Given the description of an element on the screen output the (x, y) to click on. 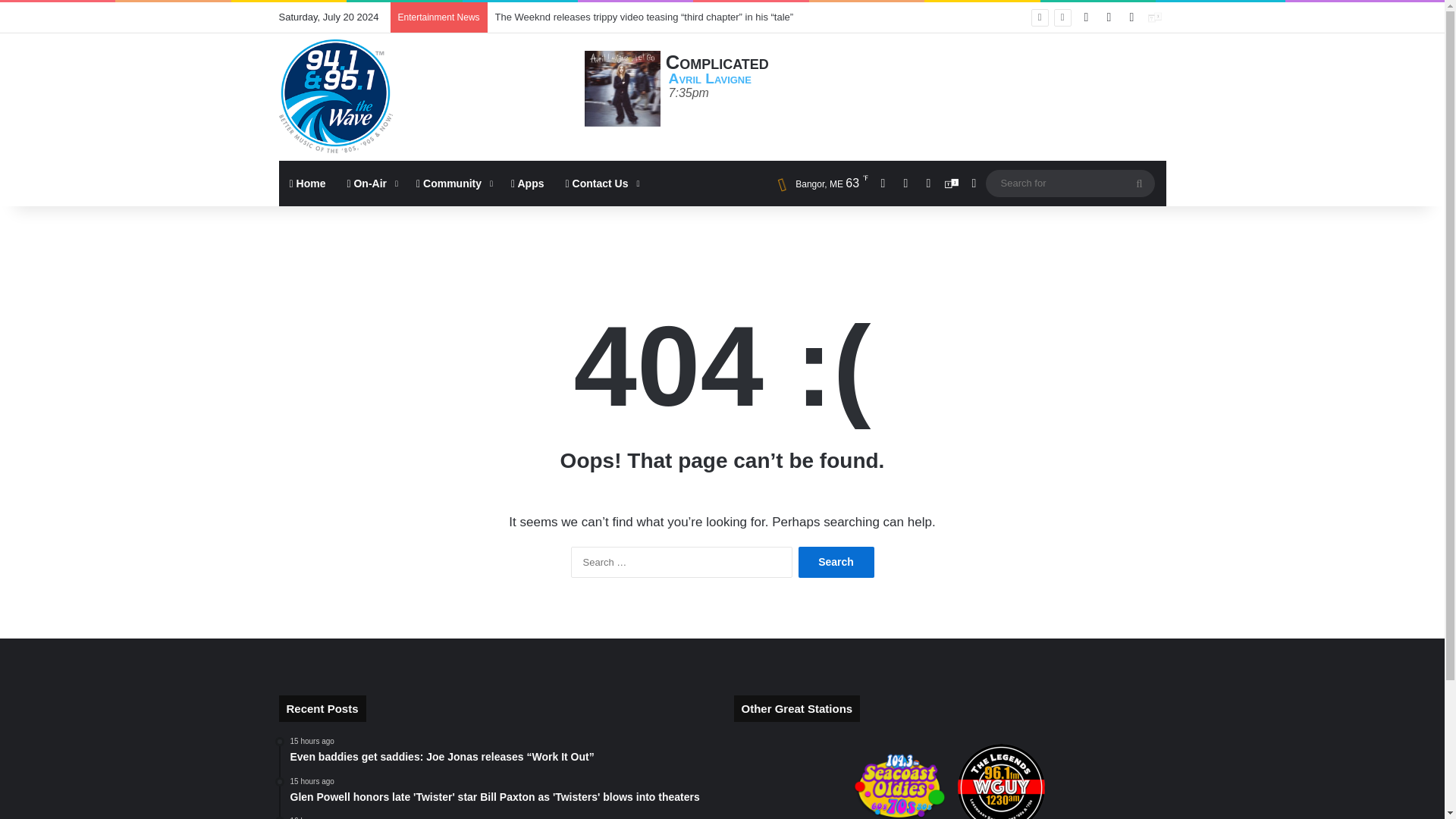
Search (835, 562)
Search for (1069, 182)
On-Air (371, 183)
Contact Us (600, 183)
Community (453, 183)
Search (835, 562)
941 The Wave (336, 96)
Search (835, 562)
Search for (1139, 183)
Clear Sky (817, 183)
Home (307, 183)
Apps (527, 183)
